Given the description of an element on the screen output the (x, y) to click on. 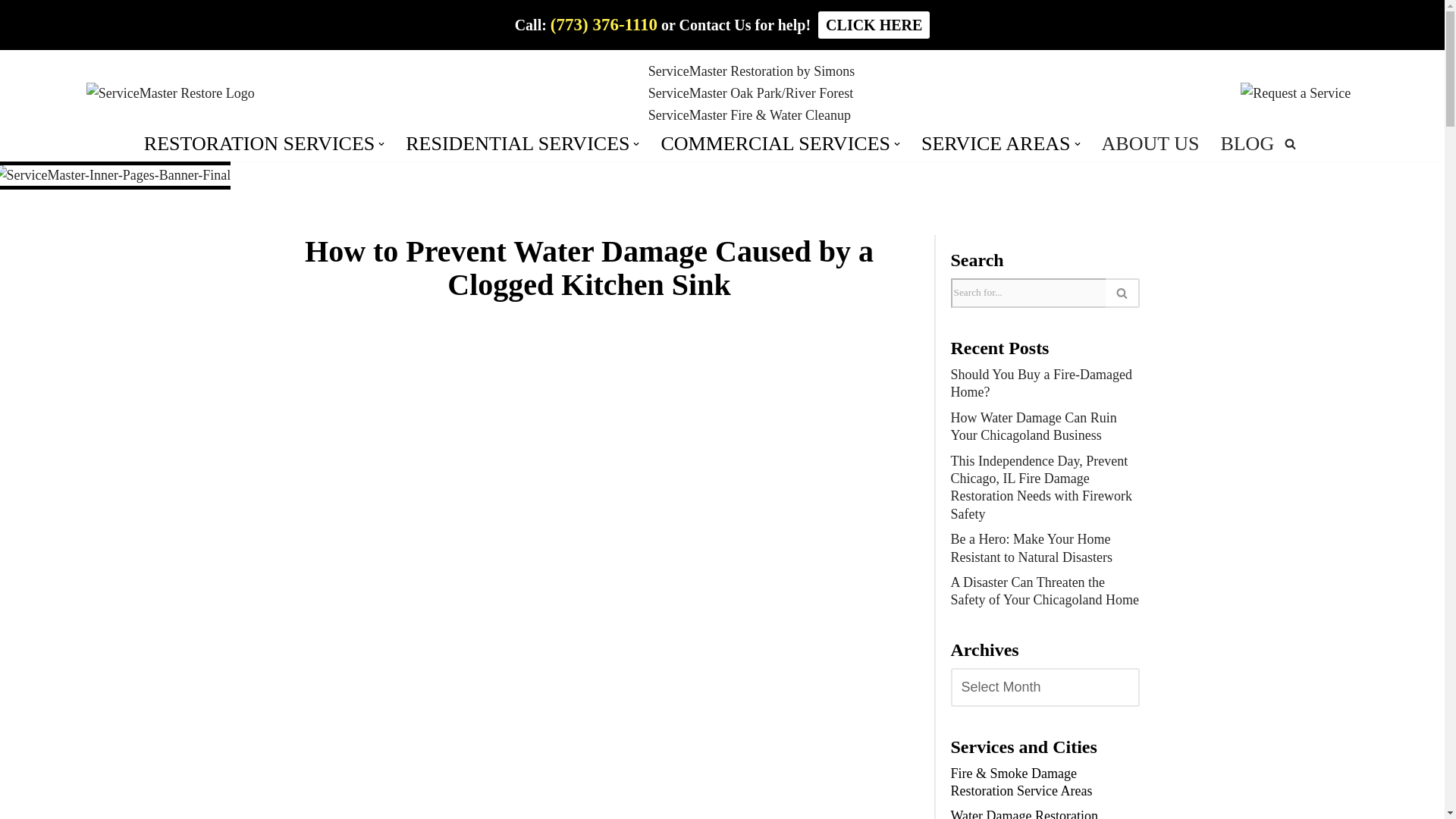
Skip to content (11, 31)
RESIDENTIAL SERVICES (517, 143)
RESTORATION SERVICES (259, 143)
CLICK HERE (874, 24)
COMMERCIAL SERVICES (775, 143)
